Given the description of an element on the screen output the (x, y) to click on. 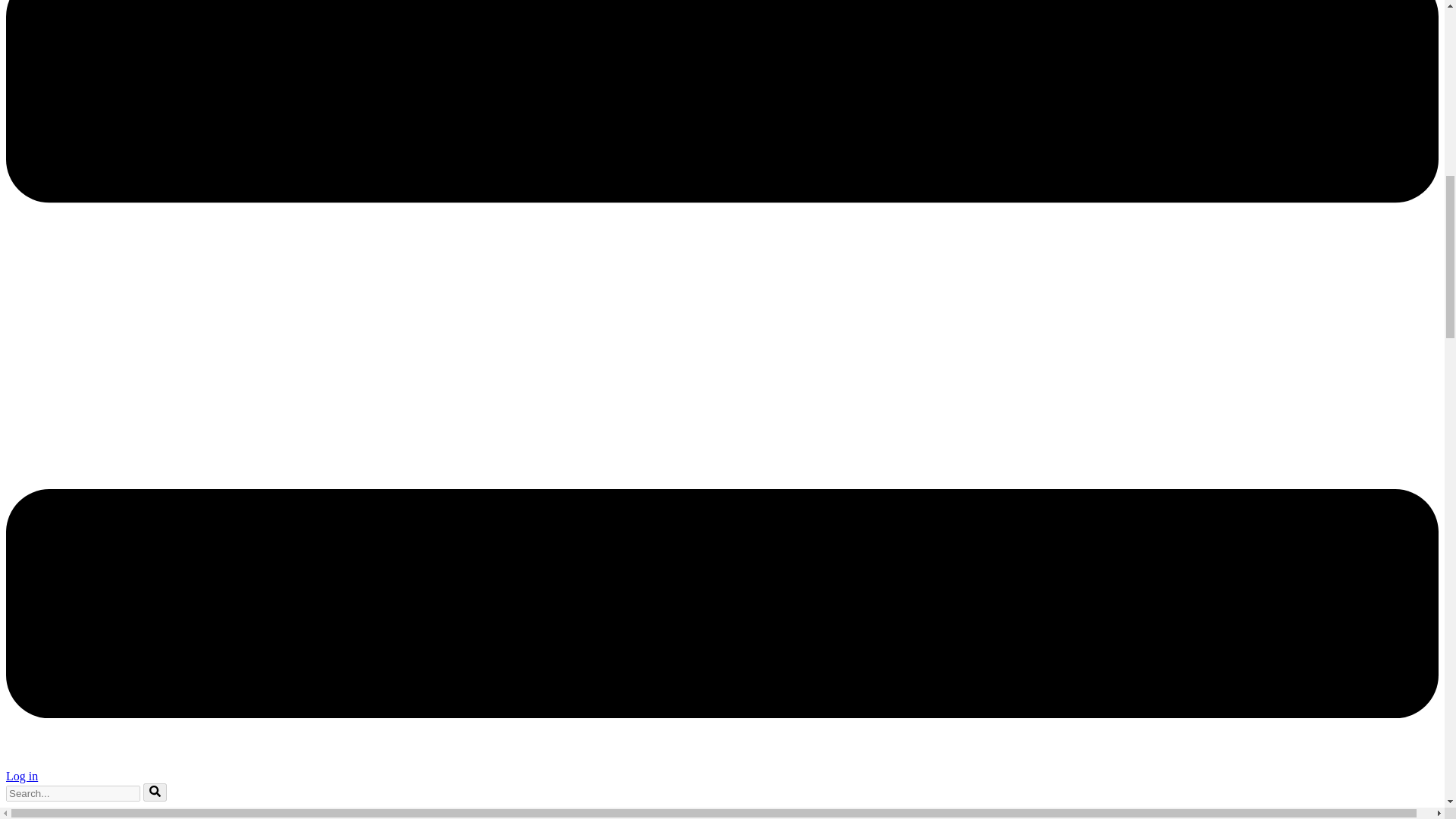
Latest (50, 816)
Log in (21, 775)
